Given the description of an element on the screen output the (x, y) to click on. 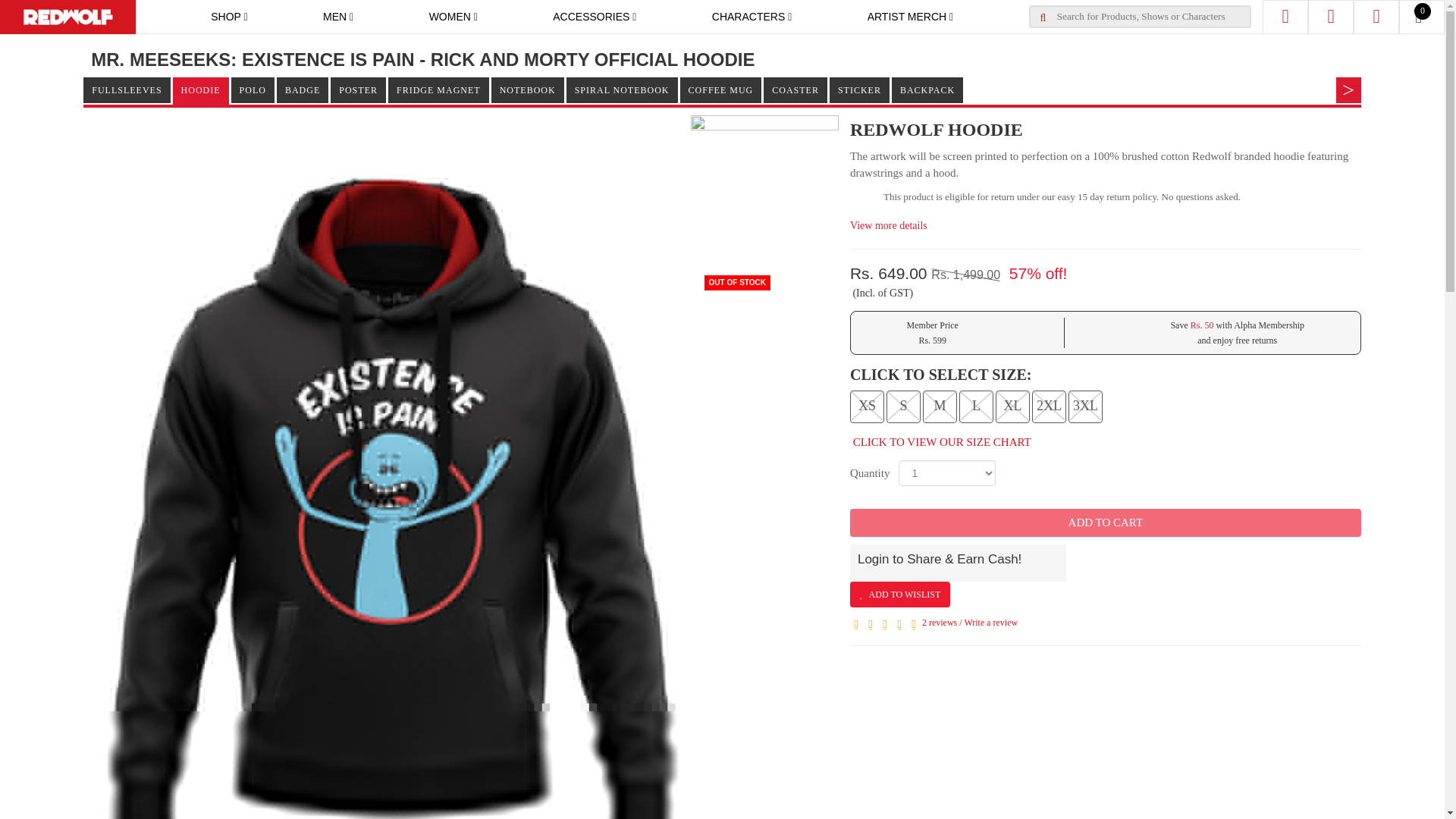
221288 (908, 404)
221292 (1046, 404)
221290 (981, 404)
477583 (868, 404)
221289 (943, 404)
221291 (1013, 404)
Write a review (990, 622)
Add to Wish List (900, 594)
221293 (1083, 404)
